Given the description of an element on the screen output the (x, y) to click on. 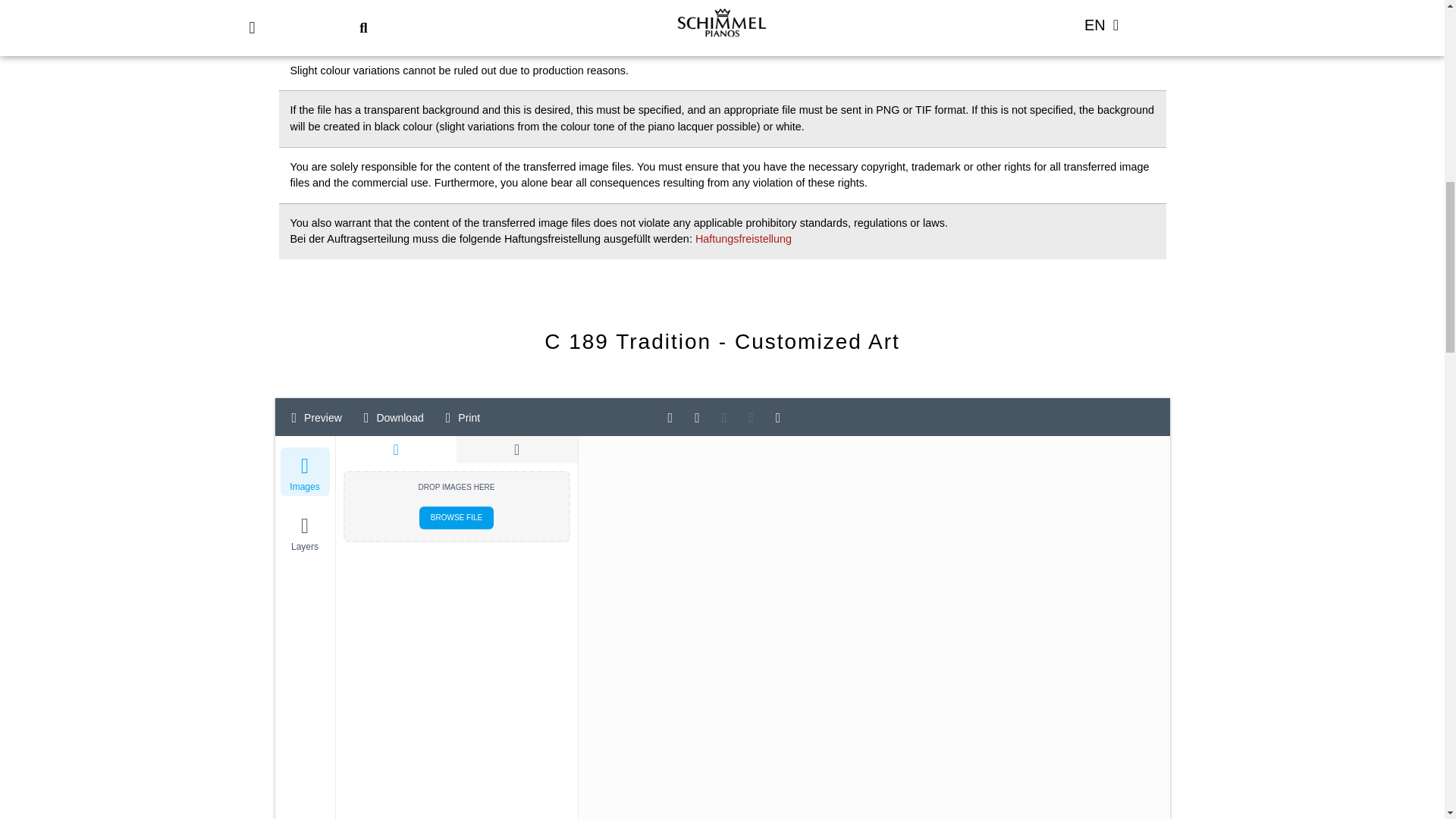
Uploads (395, 449)
QR-Code (517, 449)
